Given the description of an element on the screen output the (x, y) to click on. 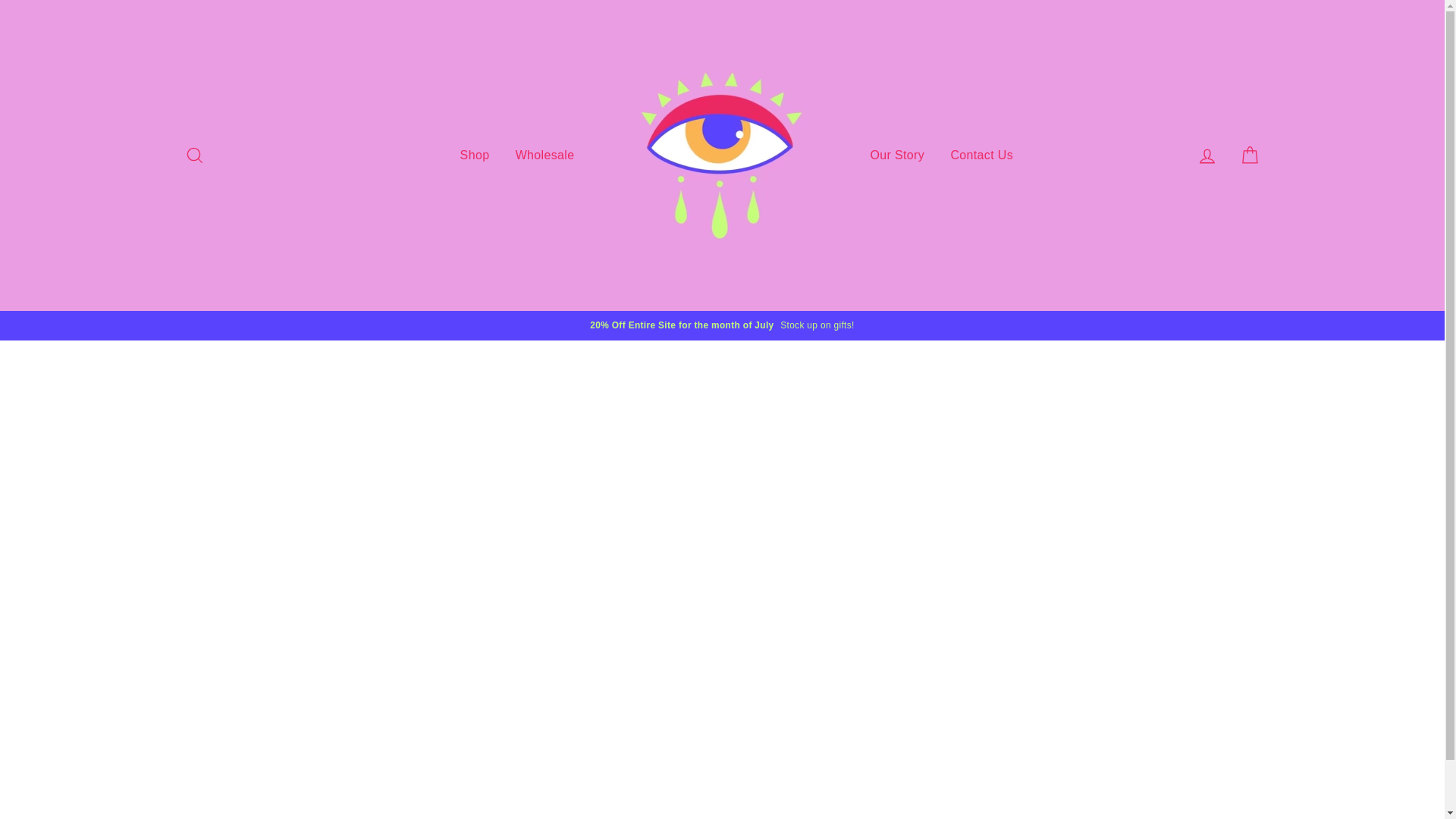
Wholesale (544, 155)
Our Story (897, 155)
Search (194, 155)
Contact Us (982, 155)
Shop (474, 155)
Cart (1249, 155)
Log in (1207, 155)
